Given the description of an element on the screen output the (x, y) to click on. 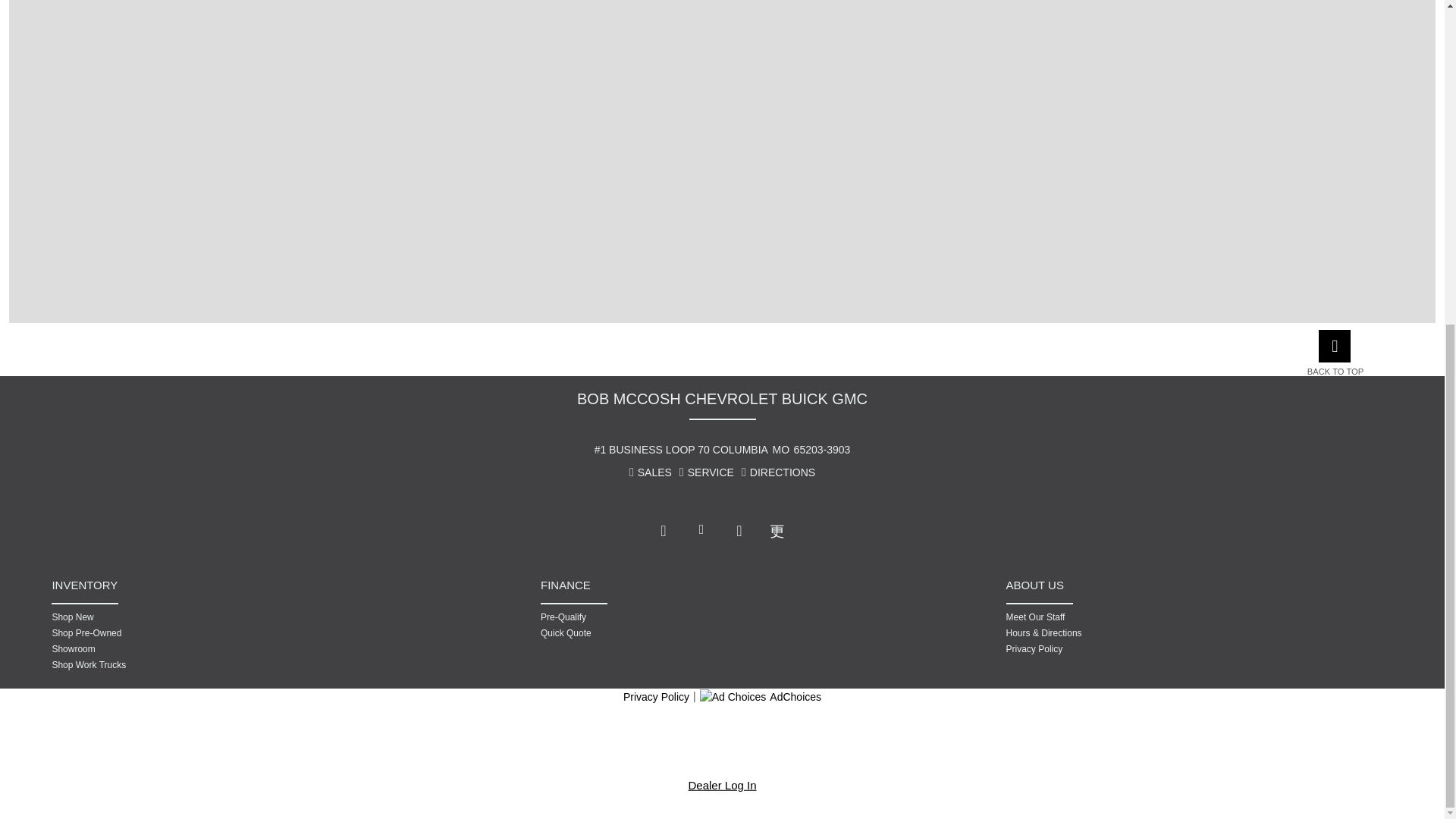
Privacy Policy (1119, 649)
Shop New (164, 617)
Meet Our Staff (1119, 617)
Back to Top (1342, 371)
Shop Pre-Owned (164, 632)
Model Showroom (164, 649)
Get a Quick Quote (654, 632)
Finance Pre-Qualification Form (654, 617)
